Given the description of an element on the screen output the (x, y) to click on. 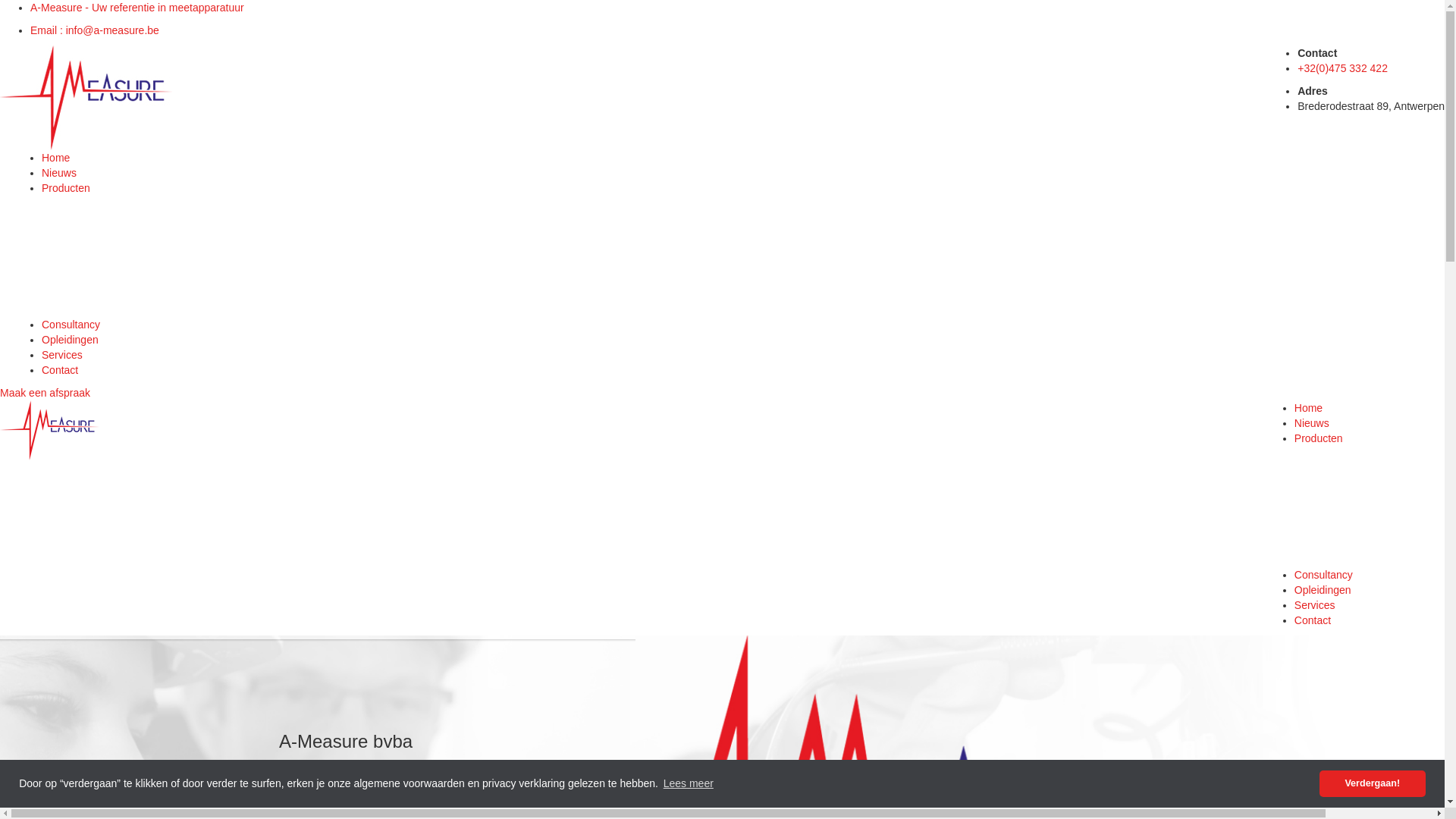
Opleidingen Element type: text (1322, 589)
Producten Element type: text (1318, 438)
Consultancy Element type: text (1323, 574)
Maak een afspraak Element type: text (45, 392)
Email : info@a-measure.be Element type: text (94, 30)
Producten Element type: text (65, 188)
Contact Element type: text (1312, 620)
Verdergaan! Element type: text (1372, 783)
Nieuws Element type: text (58, 172)
Lees meer Element type: text (688, 783)
A-Measure Element type: hover (86, 97)
Nieuws Element type: text (1311, 423)
+32(0)475 332 422 Element type: text (1342, 68)
Opleidingen Element type: text (69, 339)
A-Measure - Uw referentie in meetapparatuur Element type: text (137, 7)
Services Element type: text (61, 354)
Contact Element type: text (59, 370)
Home Element type: text (1308, 407)
Consultancy Element type: text (70, 324)
Services Element type: text (1314, 605)
Home Element type: text (55, 157)
